Given the description of an element on the screen output the (x, y) to click on. 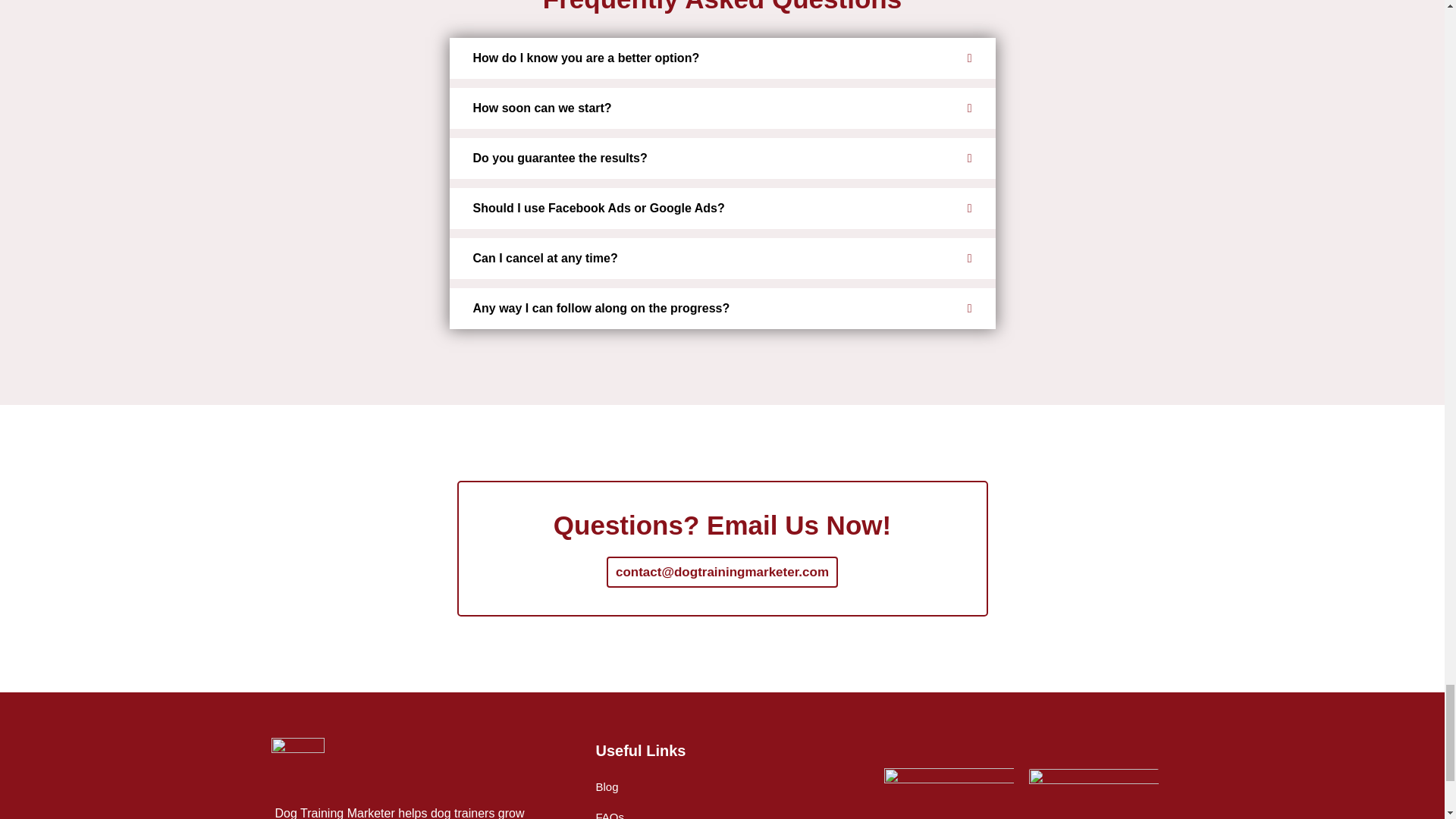
FAQs (609, 810)
How soon can we start? (721, 107)
Do you guarantee the results? (721, 158)
Can I cancel at any time? (721, 258)
Should I use Facebook Ads or Google Ads? (721, 208)
How do I know you are a better option? (721, 57)
Any way I can follow along on the progress? (721, 308)
